Given the description of an element on the screen output the (x, y) to click on. 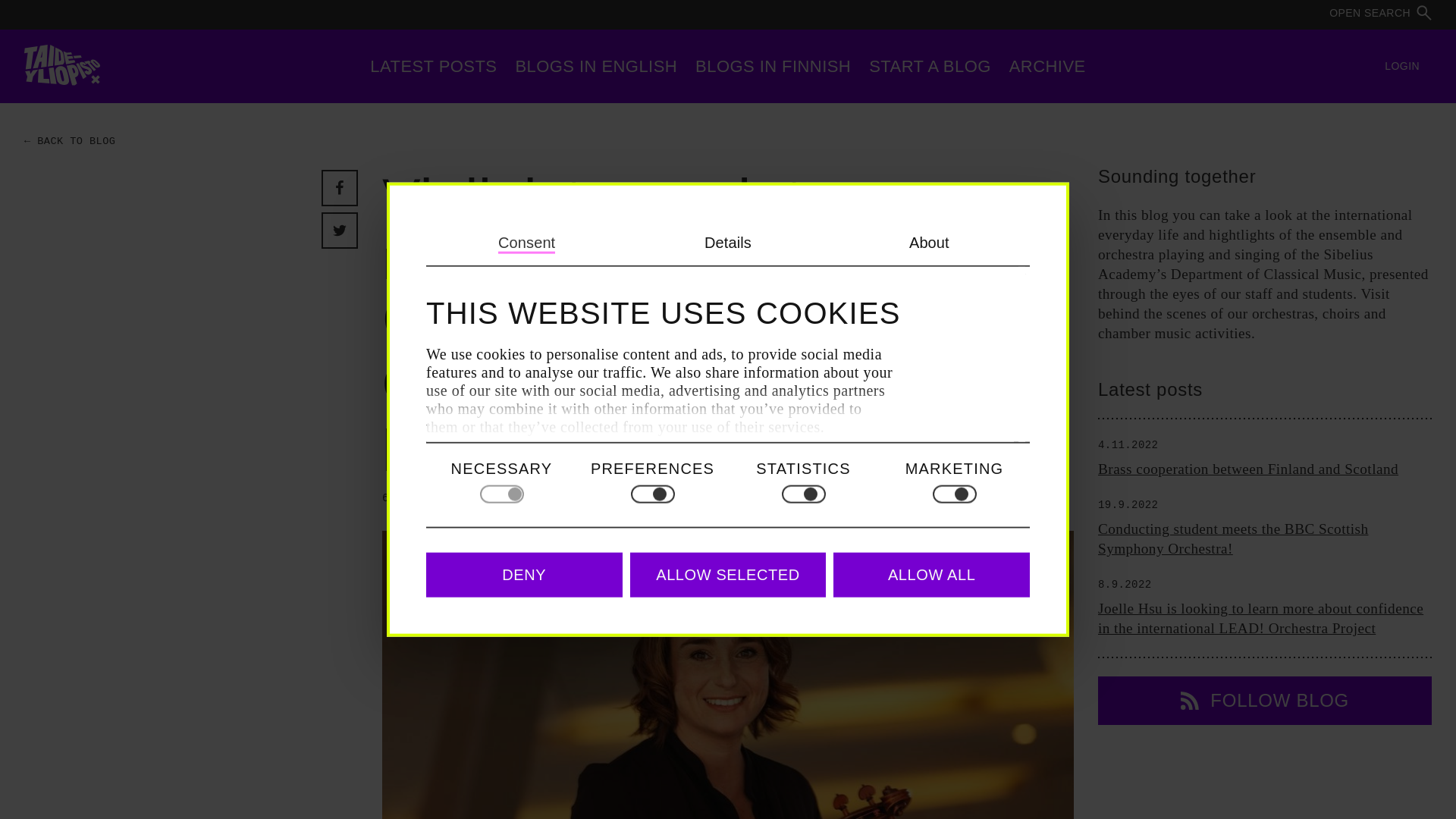
About (928, 243)
Details (727, 243)
kommenttia (548, 498)
Consent (525, 243)
